Given the description of an element on the screen output the (x, y) to click on. 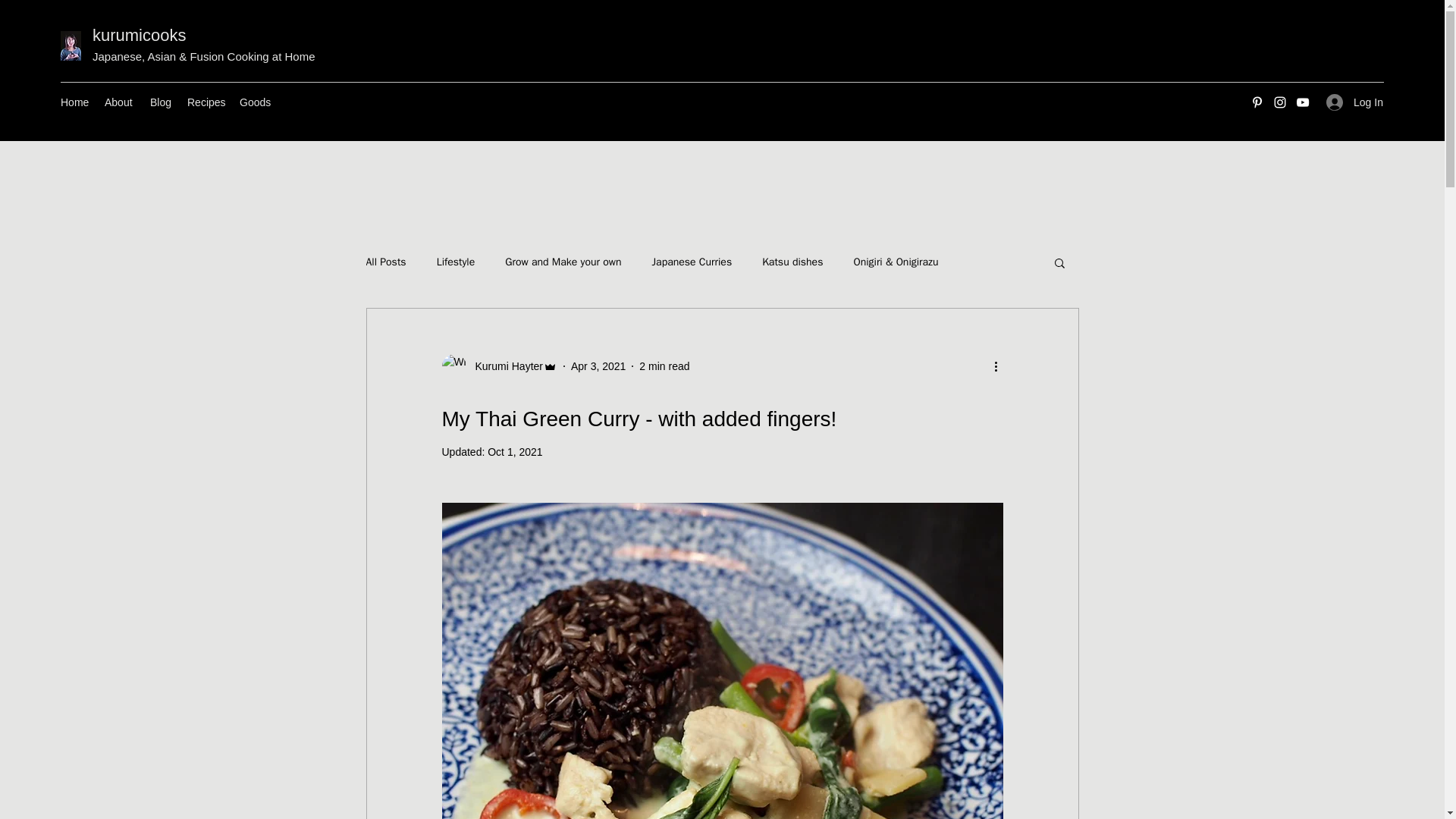
Goods (255, 101)
Recipes (205, 101)
Lifestyle (456, 262)
2 min read (663, 366)
Kurumi Hayter (503, 366)
Japanese Curries (692, 262)
Katsu dishes (791, 262)
Grow and Make your own (563, 262)
Blog (160, 101)
Apr 3, 2021 (598, 366)
